Given the description of an element on the screen output the (x, y) to click on. 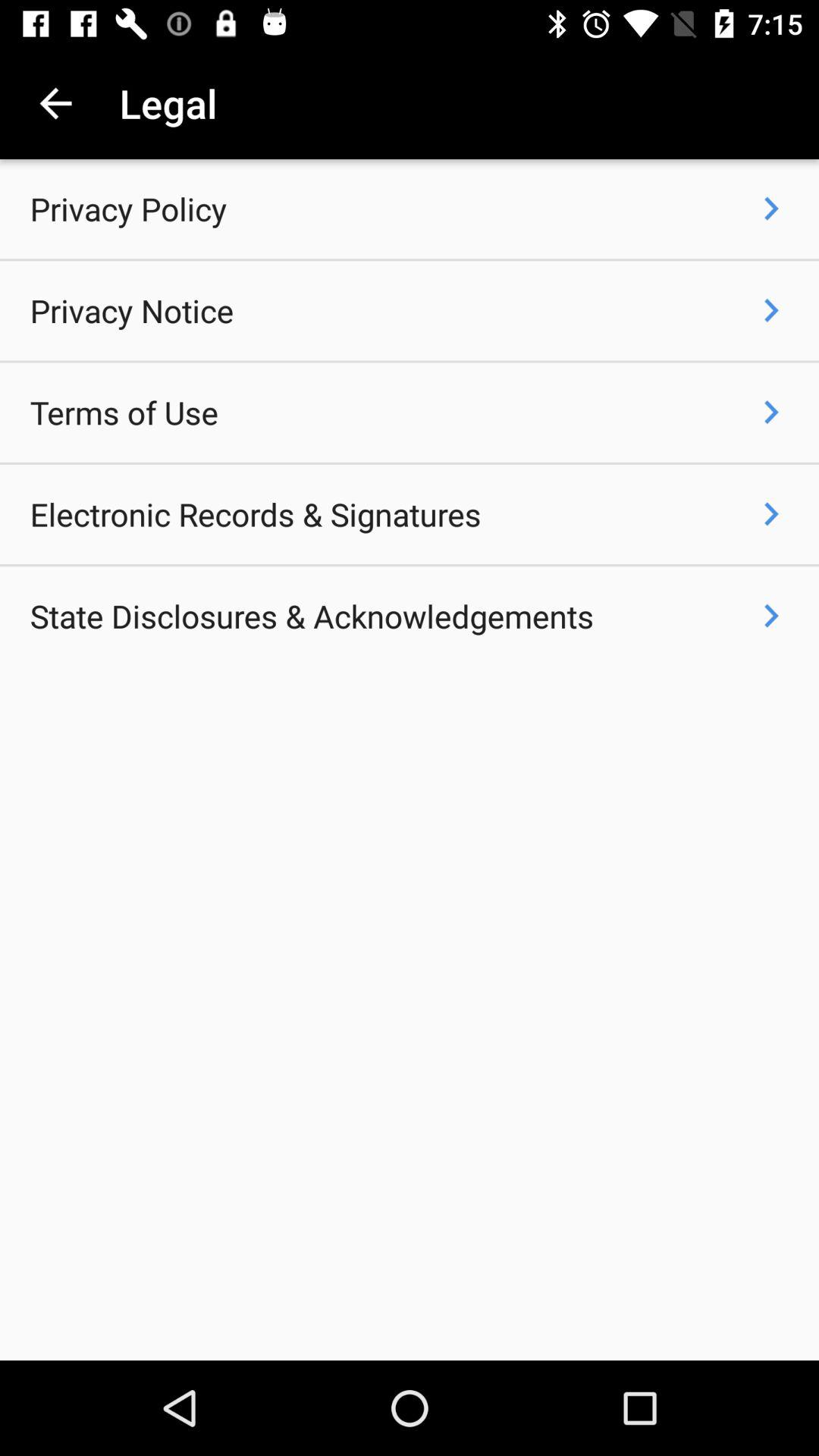
open icon to the right of electronic records & signatures (771, 513)
